Given the description of an element on the screen output the (x, y) to click on. 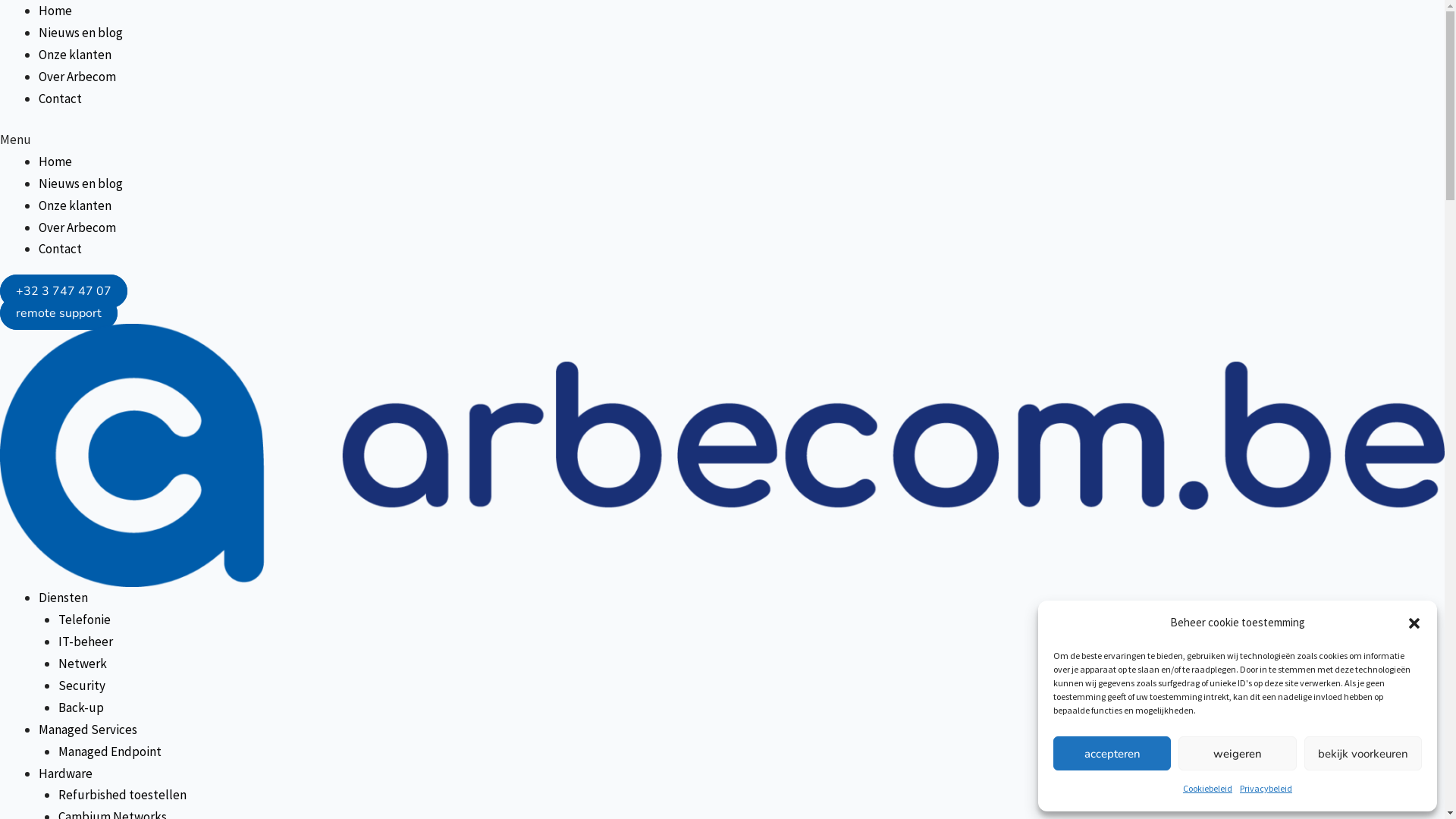
Hardware Element type: text (65, 773)
Home Element type: text (55, 161)
Onze klanten Element type: text (74, 205)
bekijk voorkeuren Element type: text (1362, 753)
IT-beheer Element type: text (84, 641)
Onze klanten Element type: text (74, 54)
Contact Element type: text (59, 248)
Telefonie Element type: text (83, 619)
Home Element type: text (55, 10)
Diensten Element type: text (62, 597)
Over Arbecom Element type: text (77, 227)
Security Element type: text (80, 685)
Managed Endpoint Element type: text (108, 751)
Managed Services Element type: text (87, 729)
Over Arbecom Element type: text (77, 76)
Nieuws en blog Element type: text (80, 32)
Privacybeleid Element type: text (1265, 789)
Refurbished toestellen Element type: text (121, 794)
Contact Element type: text (59, 98)
weigeren Element type: text (1236, 753)
Back-up Element type: text (80, 707)
Netwerk Element type: text (81, 663)
remote support Element type: text (58, 312)
+32 3 747 47 07 Element type: text (63, 290)
accepteren Element type: text (1111, 753)
Cookiebeleid Element type: text (1207, 789)
Nieuws en blog Element type: text (80, 183)
